Given the description of an element on the screen output the (x, y) to click on. 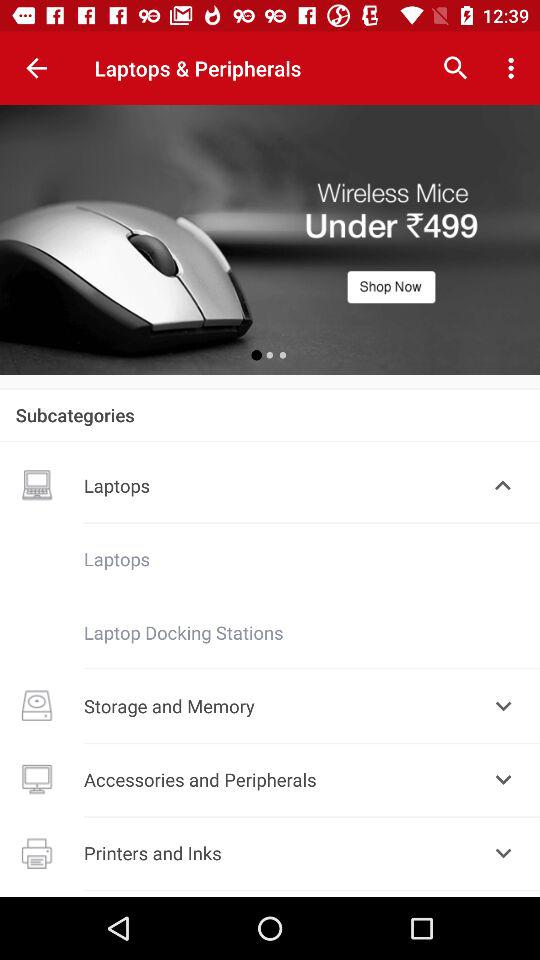
turn off the icon to the left of the laptops & peripherals (36, 68)
